Given the description of an element on the screen output the (x, y) to click on. 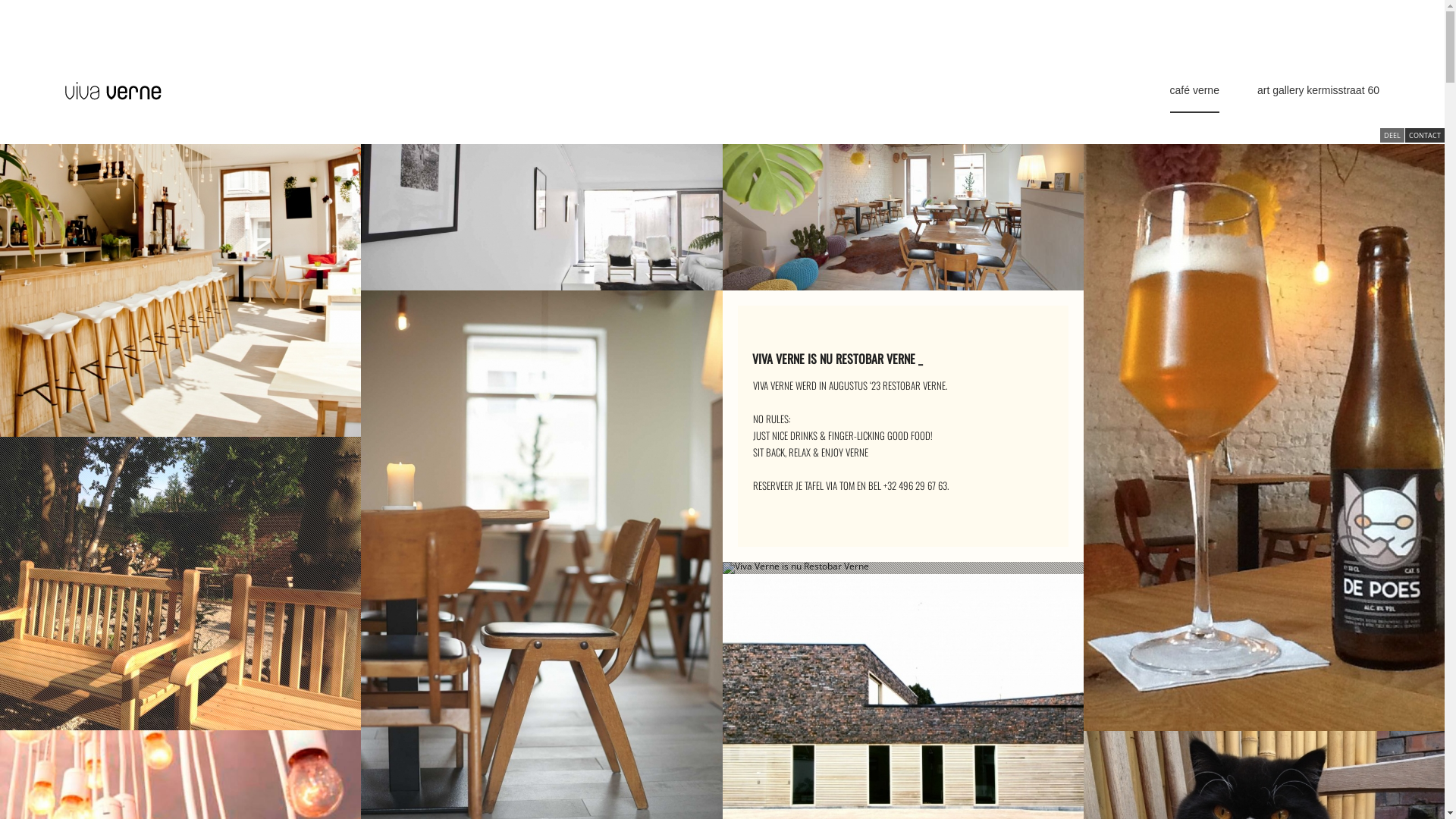
art gallery kermisstraat 60 Element type: text (1318, 97)
CONTACT Element type: text (1424, 135)
DEEL Element type: text (1392, 135)
viva Verne Element type: text (113, 90)
